Given the description of an element on the screen output the (x, y) to click on. 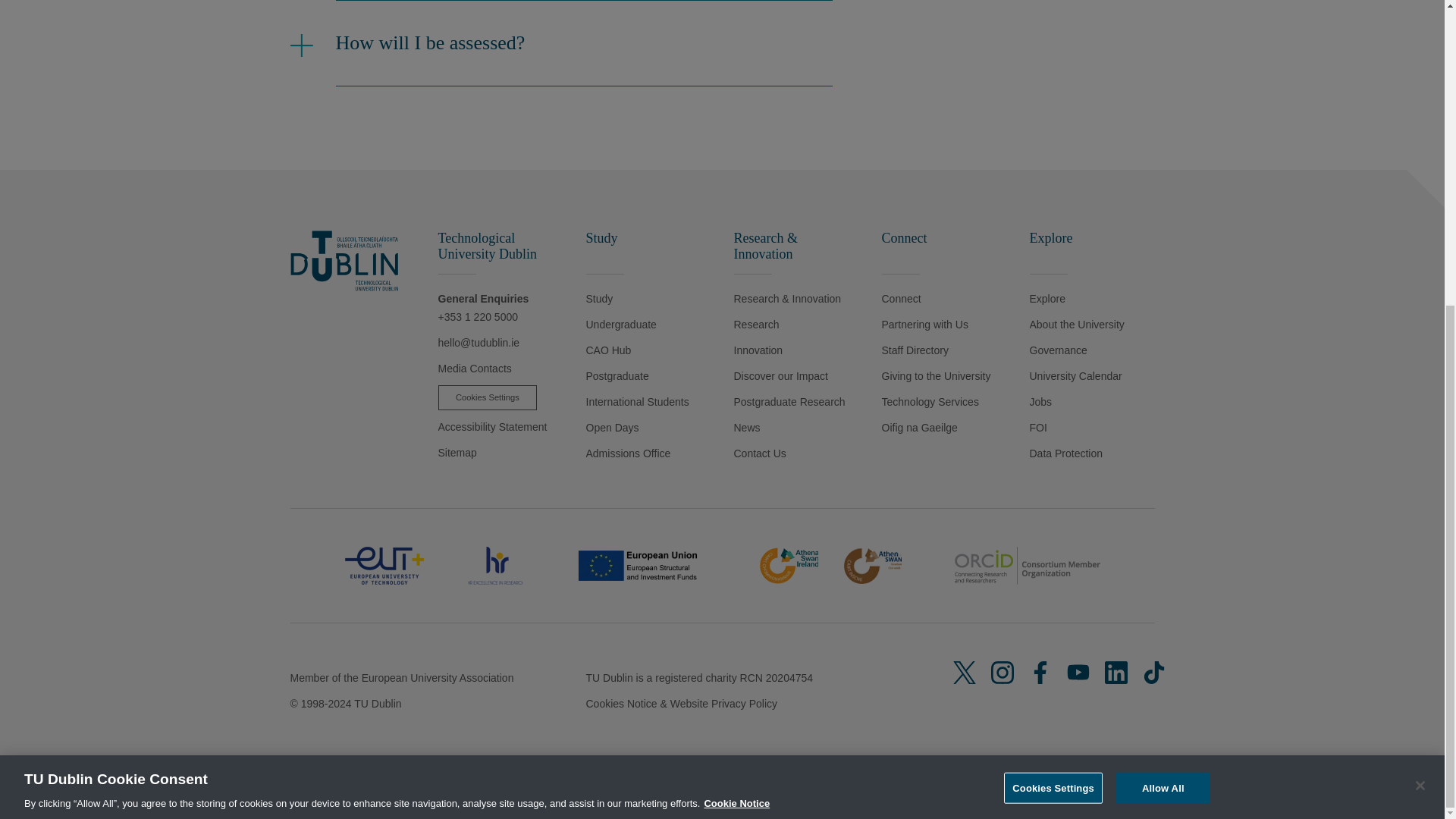
Twitter (964, 671)
LinkedIn (1115, 671)
Facebook (1040, 671)
Instagram (1002, 671)
TikTok (1154, 671)
YouTube (1078, 671)
